Given the description of an element on the screen output the (x, y) to click on. 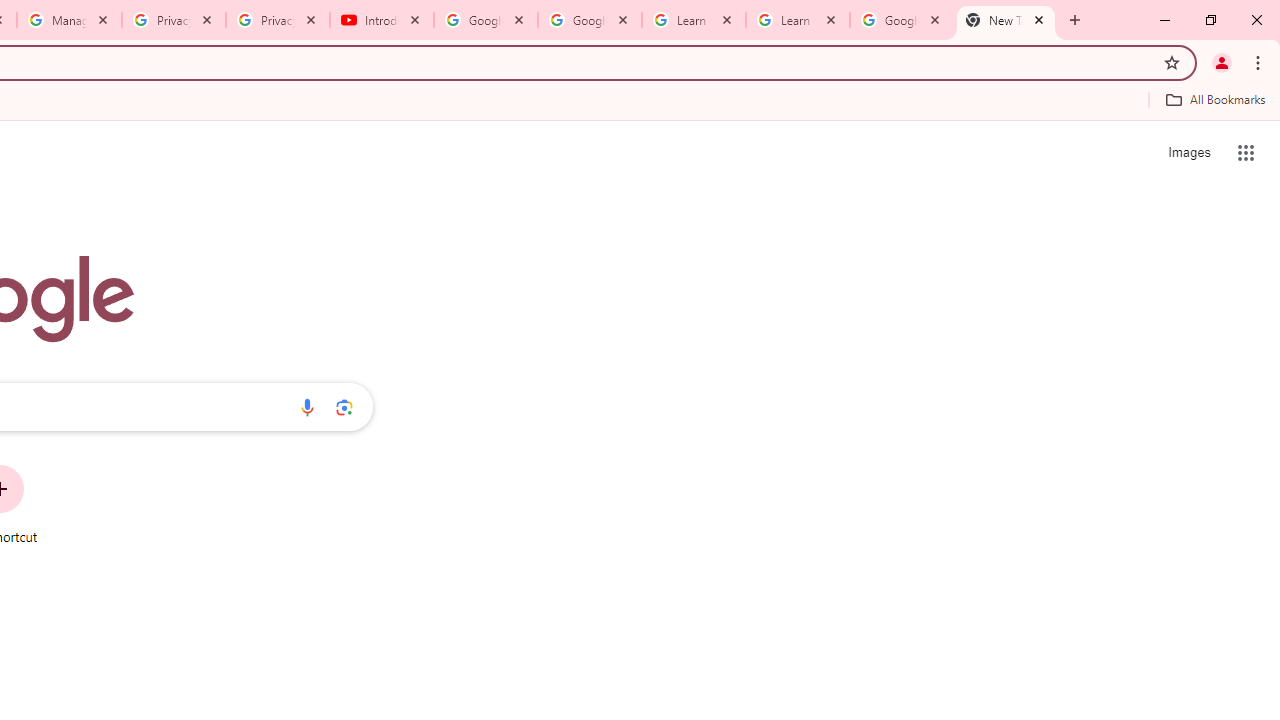
Introduction | Google Privacy Policy - YouTube (381, 20)
Google Account Help (589, 20)
Google Account (901, 20)
